Given the description of an element on the screen output the (x, y) to click on. 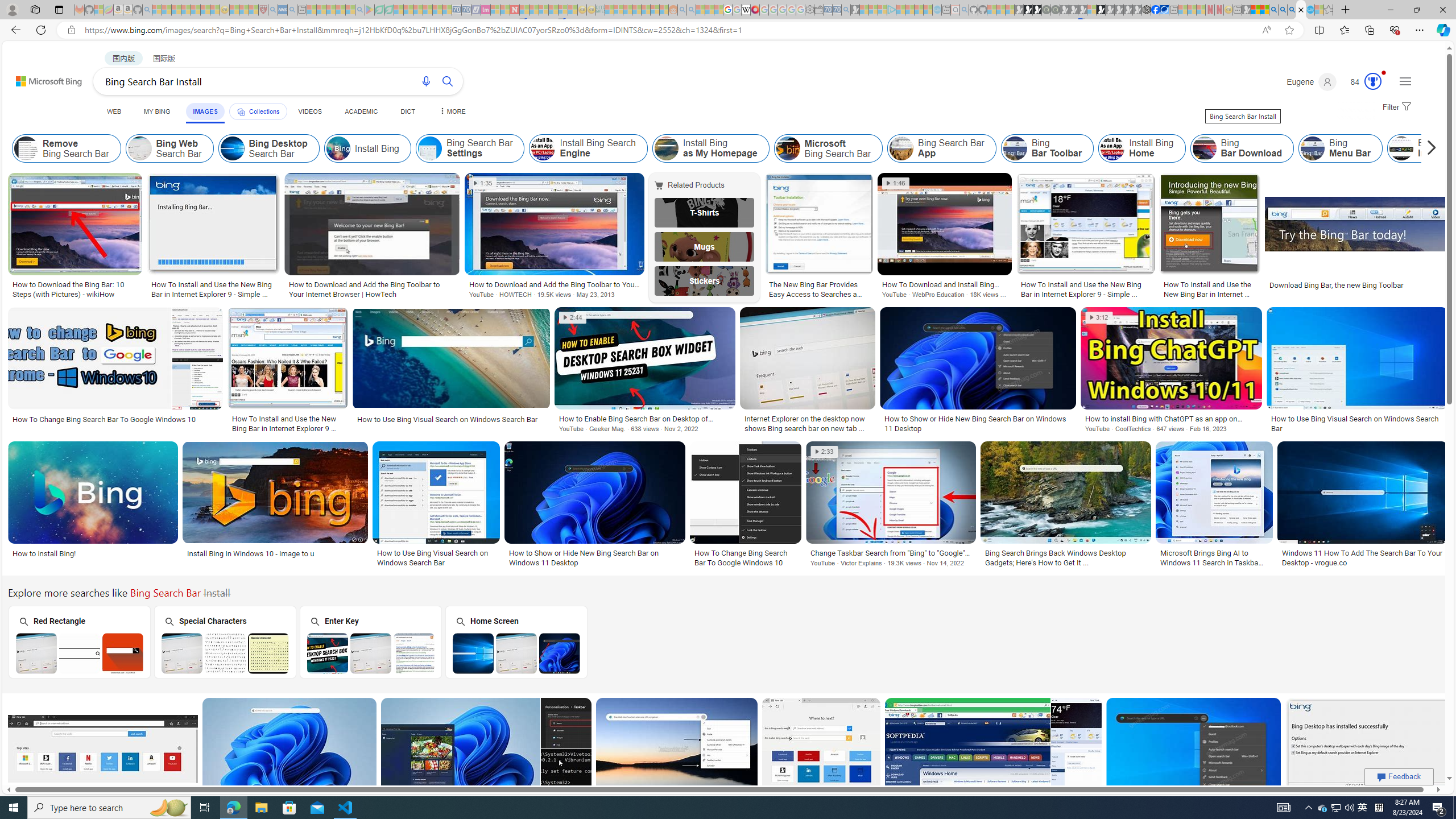
AutomationID: serp_medal_svg (1372, 81)
github - Search - Sleeping (964, 9)
Search button (447, 80)
Image result for Bing Search Bar Install (1366, 748)
How to Use Bing Visual Search on Windows Search Bar (436, 557)
Bing Search Bar Settings (429, 148)
How to install Bing! (44, 552)
MSNBC - MSN - Sleeping (608, 9)
Scroll right (1428, 148)
